Given the description of an element on the screen output the (x, y) to click on. 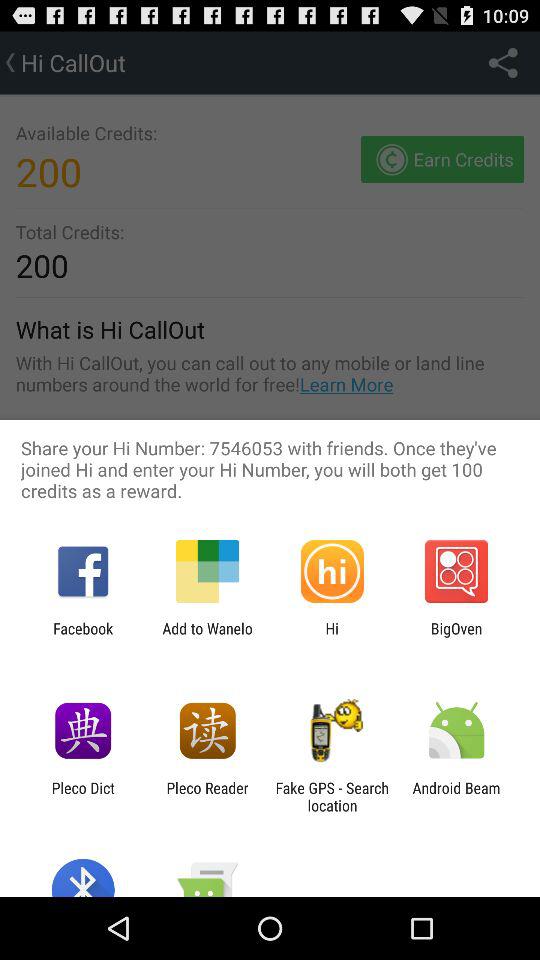
flip until the facebook item (83, 637)
